Given the description of an element on the screen output the (x, y) to click on. 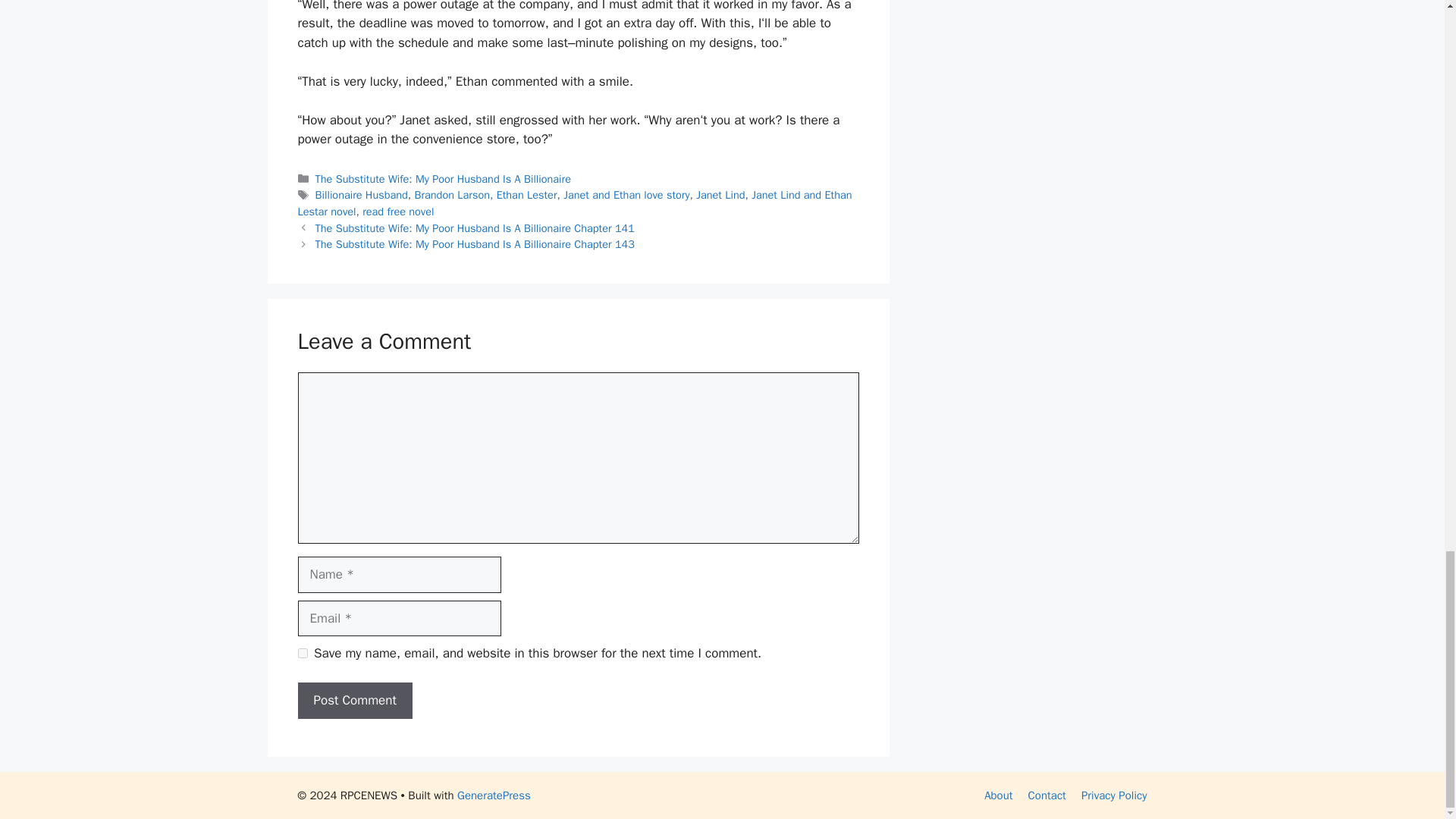
Post Comment (354, 700)
Ethan Lester (526, 194)
Privacy Policy (1114, 795)
GeneratePress (494, 795)
Post Comment (354, 700)
Janet and Ethan love story (625, 194)
yes (302, 653)
Janet Lind (719, 194)
The Substitute Wife: My Poor Husband Is A Billionaire (442, 178)
Brandon Larson (451, 194)
About (997, 795)
Contact (1046, 795)
read free novel (397, 211)
